Given the description of an element on the screen output the (x, y) to click on. 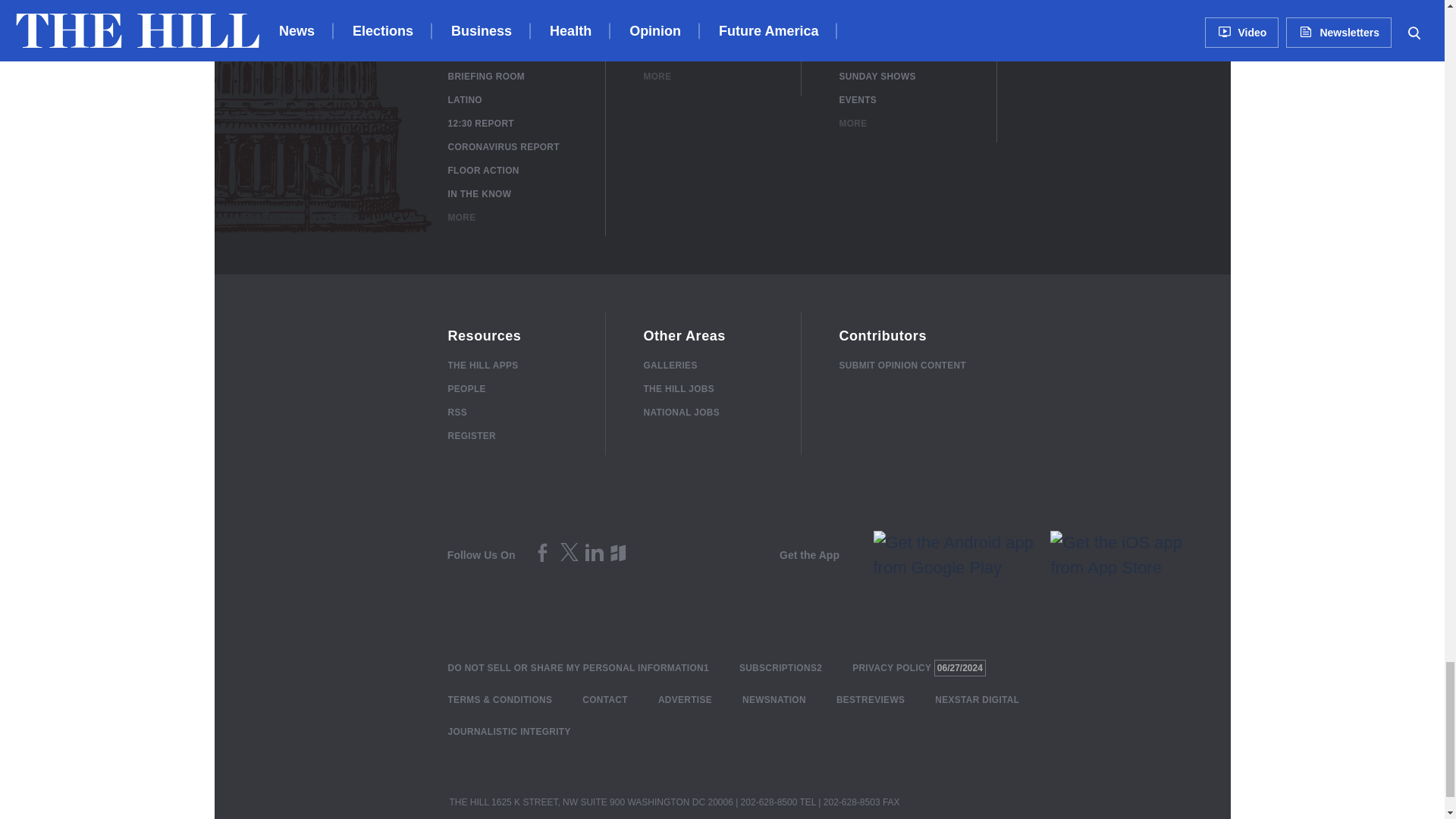
Visit our Haystack News (620, 559)
